Given the description of an element on the screen output the (x, y) to click on. 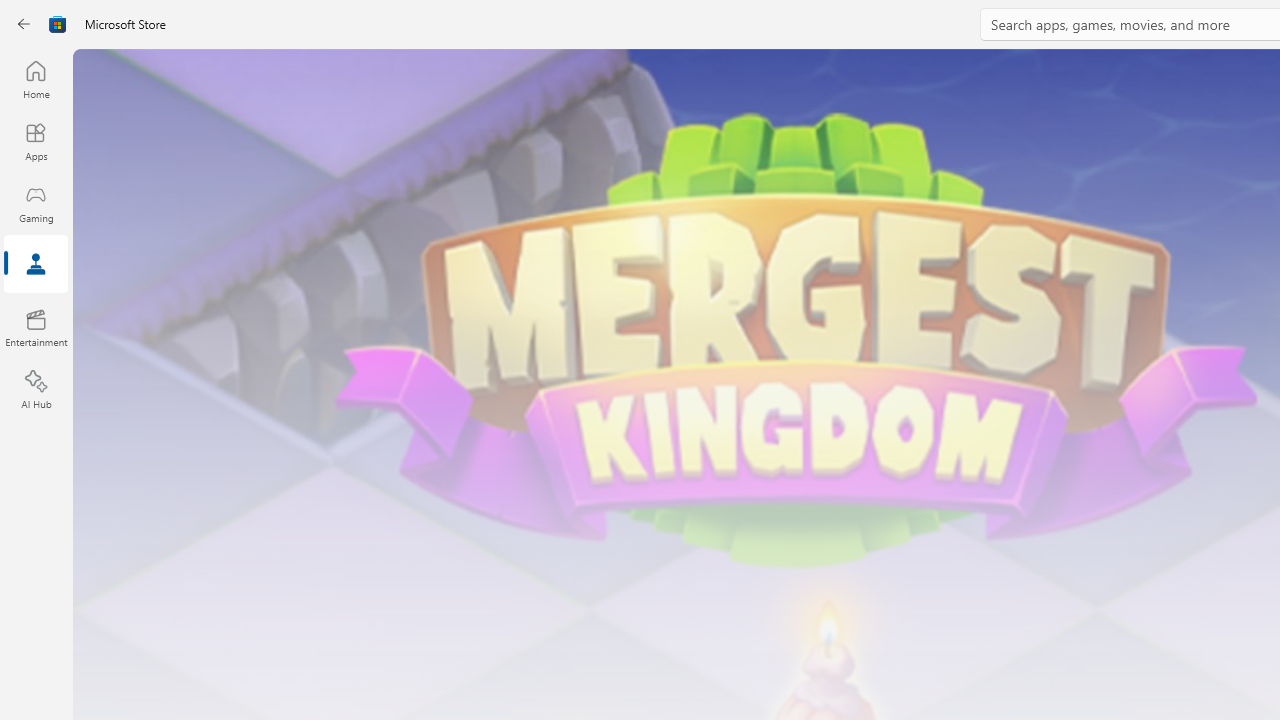
Arcade (35, 265)
Home (35, 79)
Back (24, 24)
Apps (35, 141)
AI Hub (35, 390)
Entertainment (35, 327)
Gaming (35, 203)
Class: Image (58, 24)
